Given the description of an element on the screen output the (x, y) to click on. 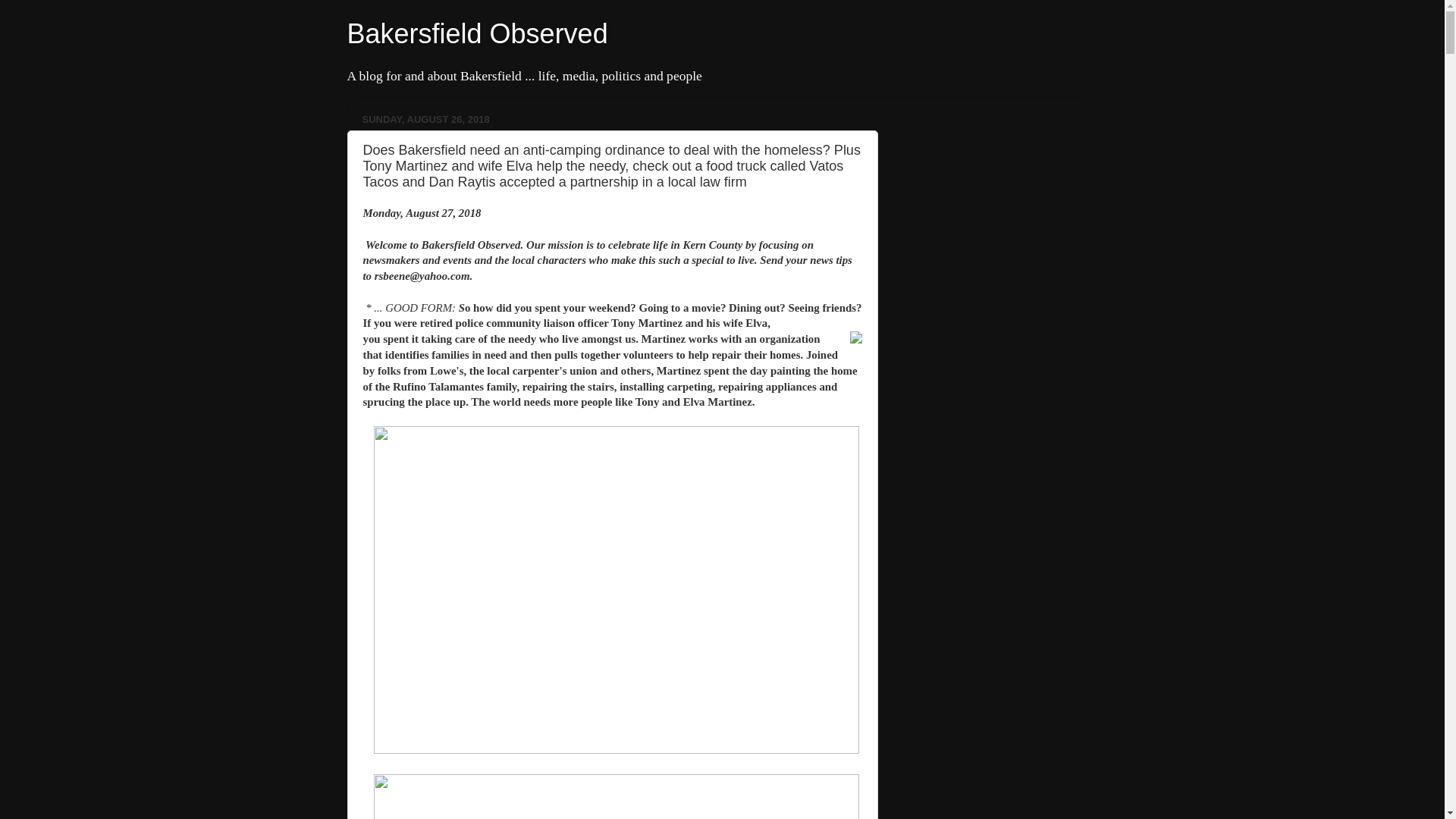
Bakersfield Observed (477, 33)
